Given the description of an element on the screen output the (x, y) to click on. 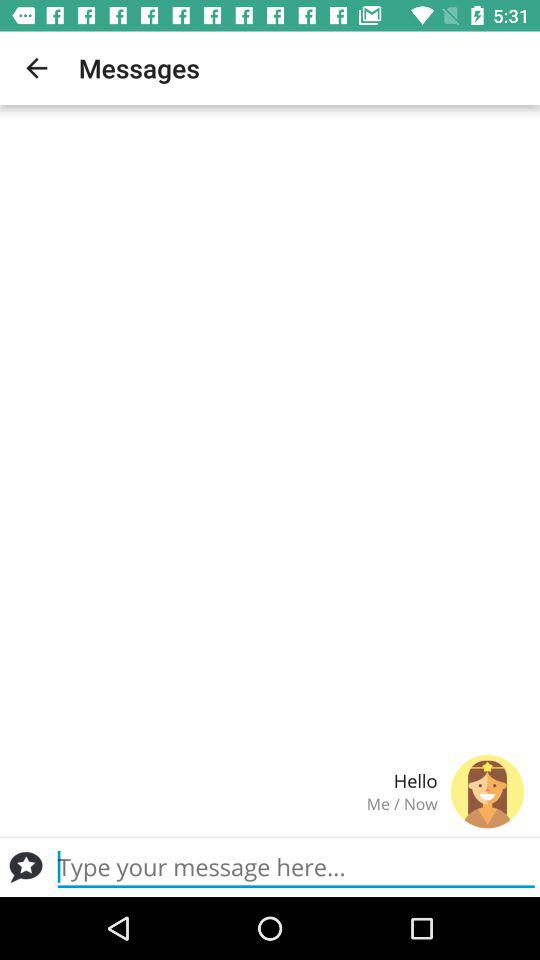
messaging preview box (296, 867)
